Given the description of an element on the screen output the (x, y) to click on. 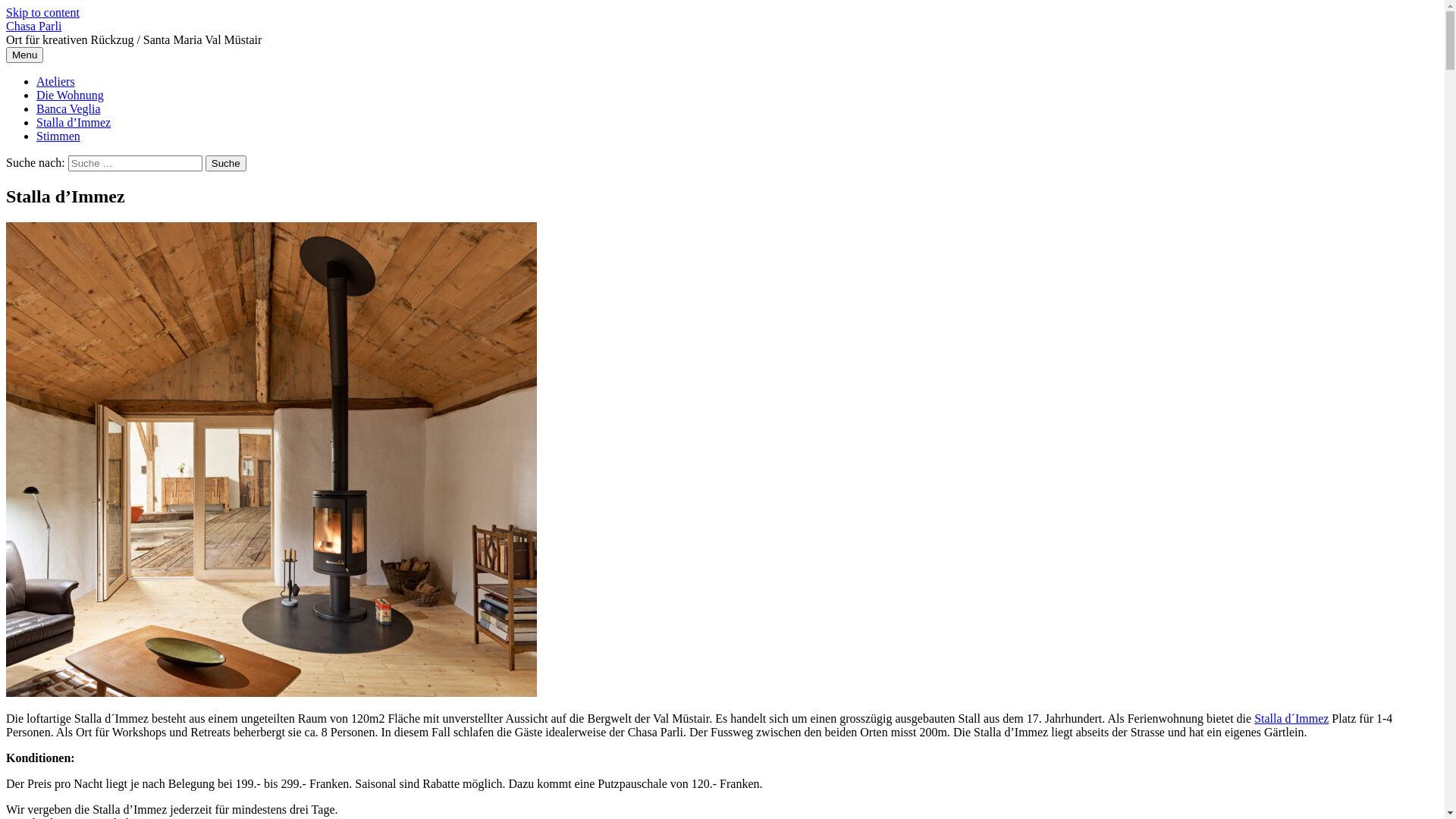
Ateliers Element type: text (55, 81)
Die Wohnung Element type: text (69, 94)
Stimmen Element type: text (58, 135)
Suche Element type: text (225, 163)
Menu Element type: text (24, 54)
Chasa Parli Element type: text (33, 25)
Banca Veglia Element type: text (68, 108)
Skip to content Element type: text (42, 12)
